Given the description of an element on the screen output the (x, y) to click on. 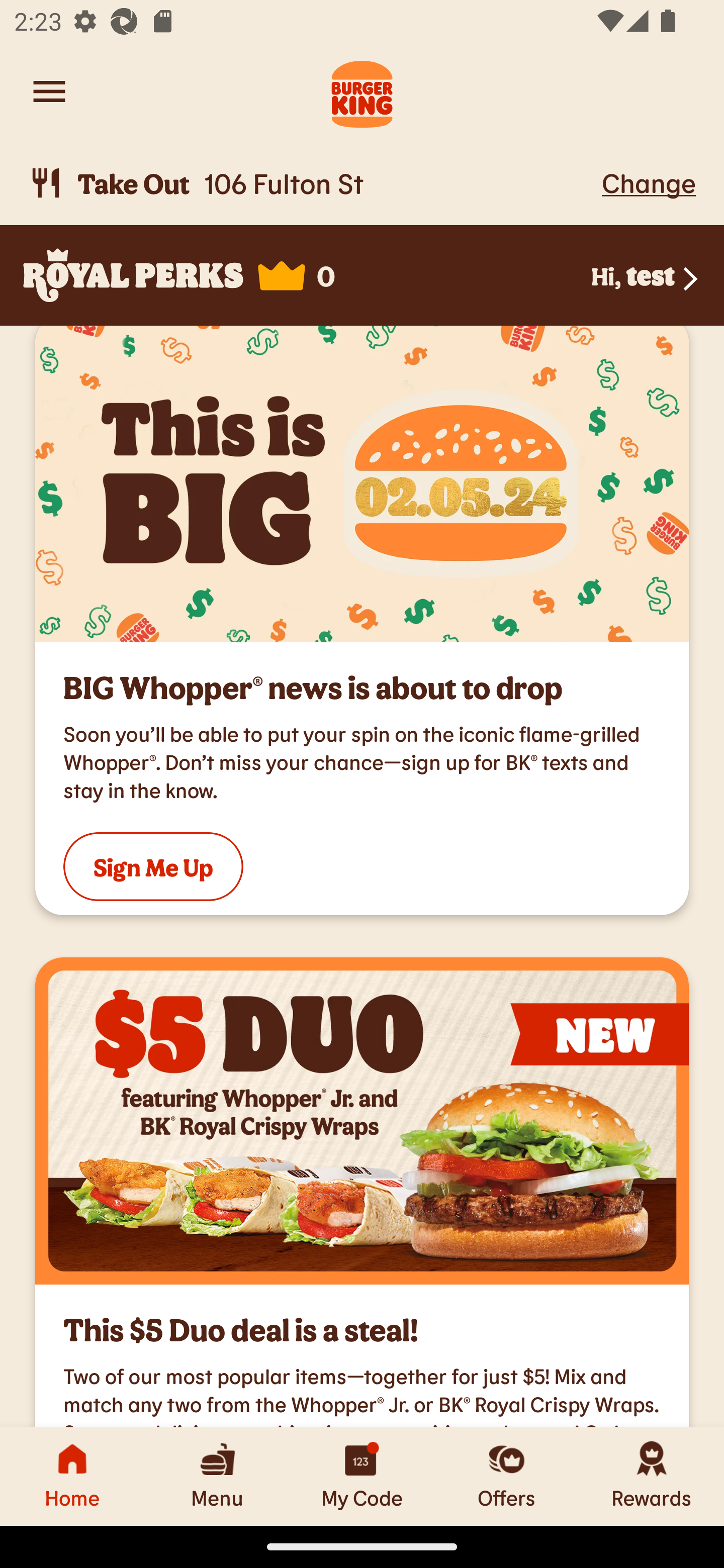
Burger King Logo. Navigate to Home (362, 91)
Navigate to account menu  (49, 91)
Take Out, 106 Fulton St  Take Out 106 Fulton St (311, 183)
Change (648, 182)
MDW Teaser Auth App (361, 484)
Sign Me Up (153, 866)
$5 Duo ft. Wraps  (361, 1121)
Home (72, 1475)
Menu (216, 1475)
My Code (361, 1475)
Offers (506, 1475)
Rewards (651, 1475)
